Given the description of an element on the screen output the (x, y) to click on. 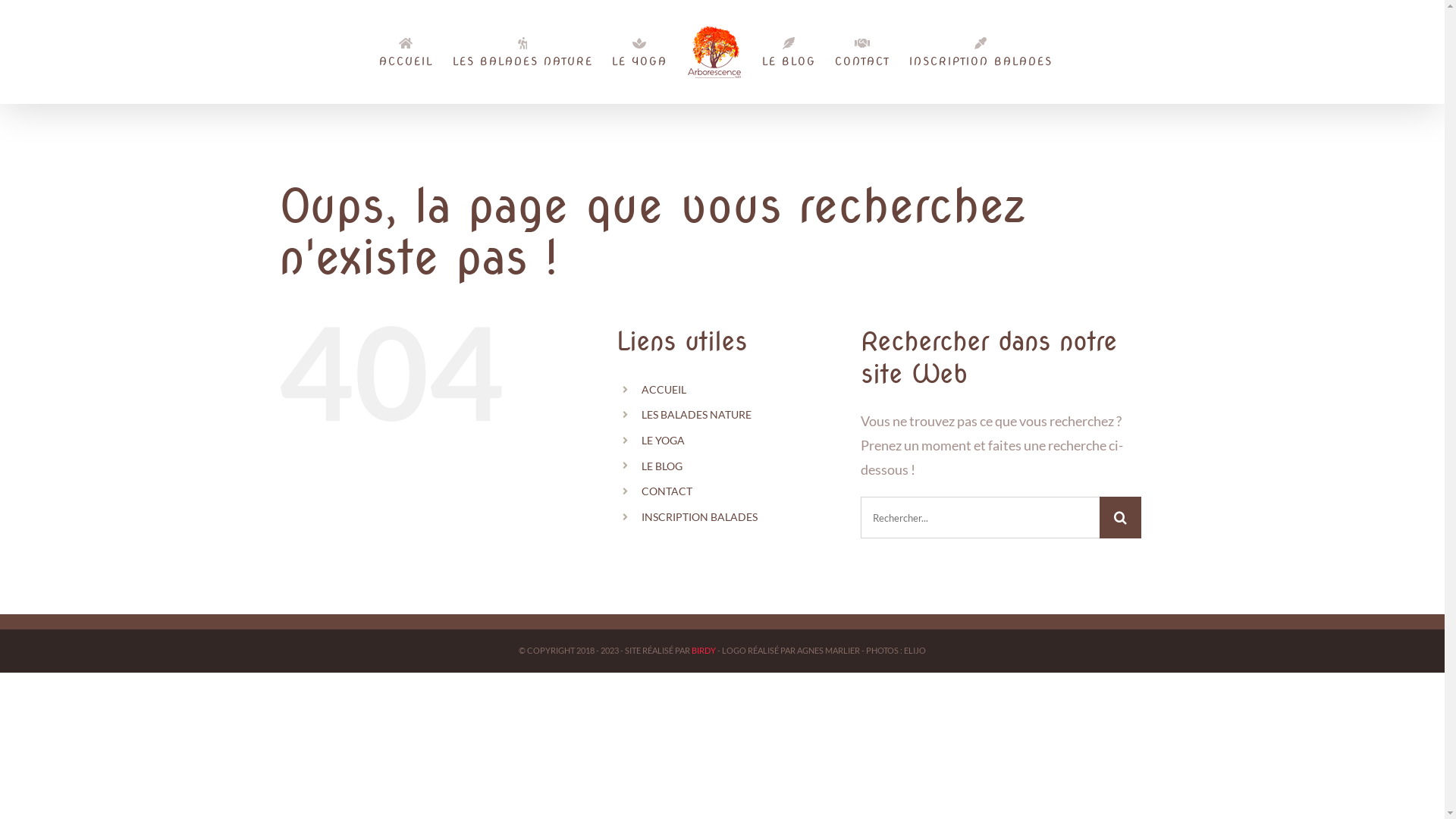
BIRDY Element type: text (703, 650)
LE BLOG Element type: text (788, 52)
LES BALADES NATURE Element type: text (696, 413)
ACCUEIL Element type: text (406, 52)
LES BALADES NATURE Element type: text (522, 52)
INSCRIPTION BALADES Element type: text (699, 516)
INSCRIPTION BALADES Element type: text (980, 52)
ACCUEIL Element type: text (663, 388)
CONTACT Element type: text (862, 52)
LE BLOG Element type: text (661, 465)
LE YOGA Element type: text (639, 52)
CONTACT Element type: text (666, 490)
LE YOGA Element type: text (662, 439)
